Given the description of an element on the screen output the (x, y) to click on. 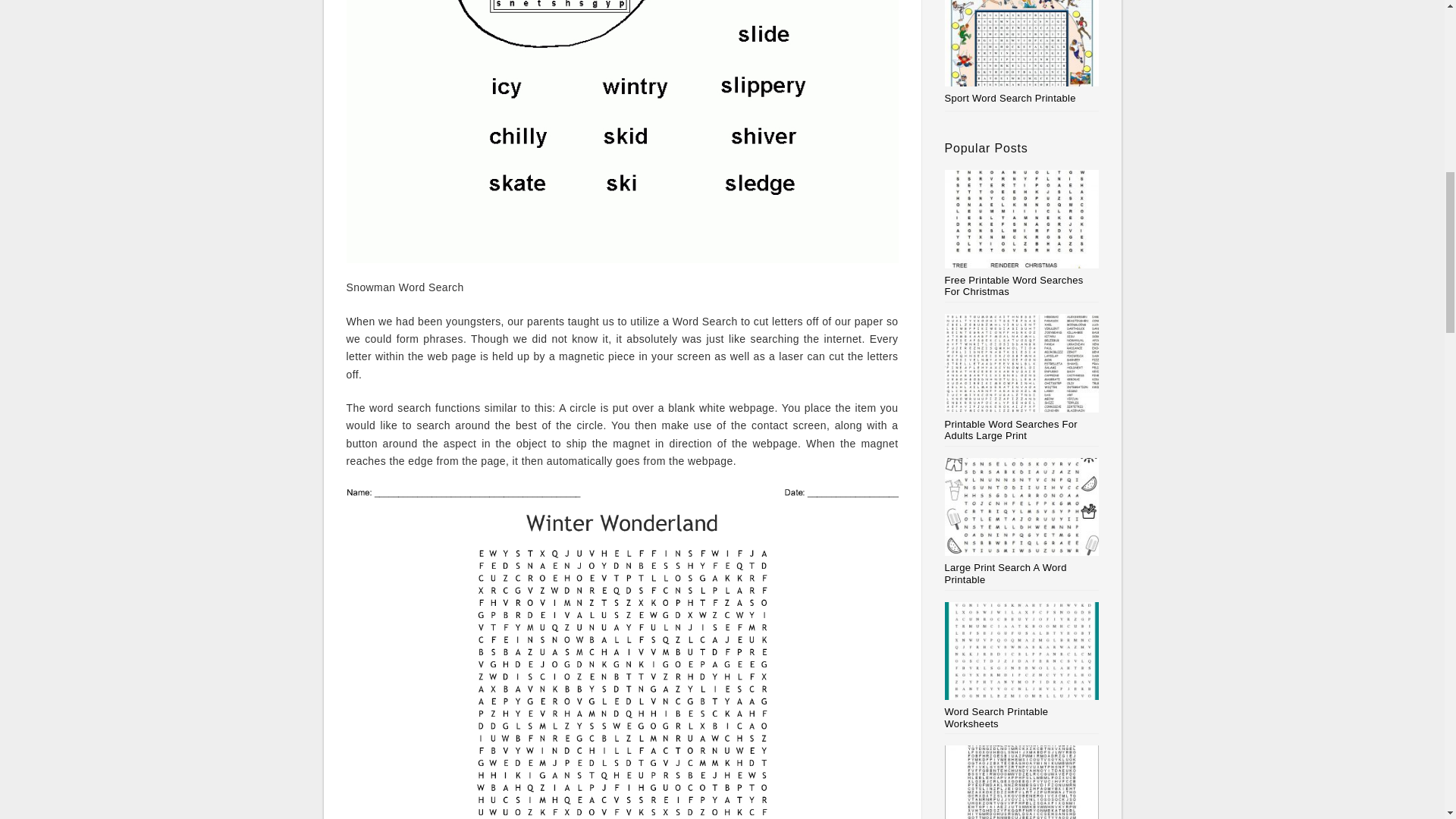
Word Search Printable Worksheets (1021, 665)
Large Print Search A Word Printable (1021, 521)
Free Printable Word Searches For Christmas (1021, 233)
Printable Word Searches For Adults Large Print (1021, 377)
Sport Word Search Printable (1009, 98)
